Given the description of an element on the screen output the (x, y) to click on. 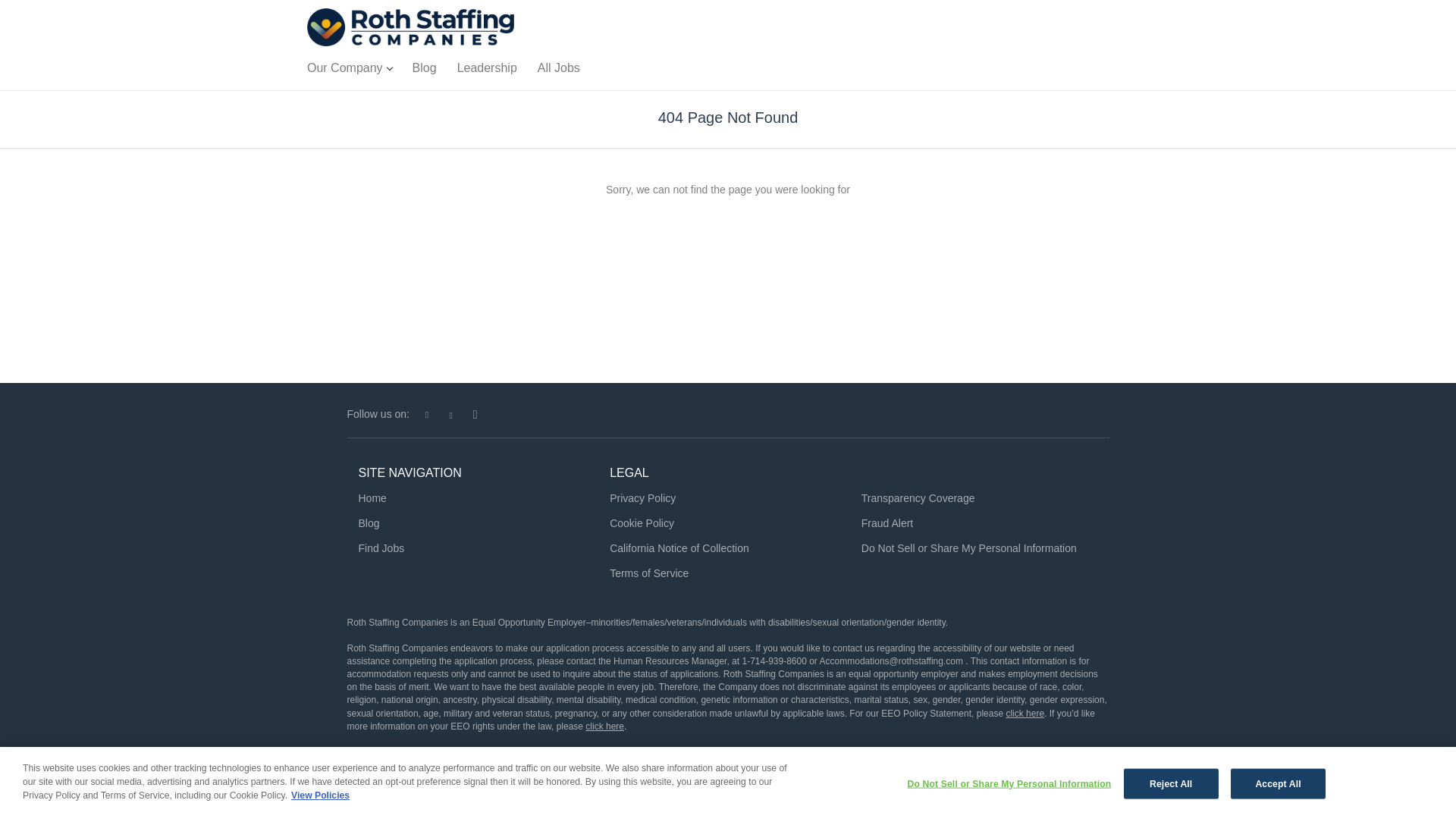
click here (1024, 713)
Follow us on: (381, 413)
Home (371, 498)
Blog (424, 71)
Terms of Service (649, 573)
Fraud Alert (886, 522)
click here (604, 726)
Transparency Coverage (918, 498)
Privacy Policy (642, 498)
Our Company (348, 71)
Find Jobs (381, 548)
Fraud Alert (886, 522)
California Notice of Collection (679, 548)
Do Not Sell or Share My Personal Information (969, 548)
Cookie Policy (642, 522)
